Given the description of an element on the screen output the (x, y) to click on. 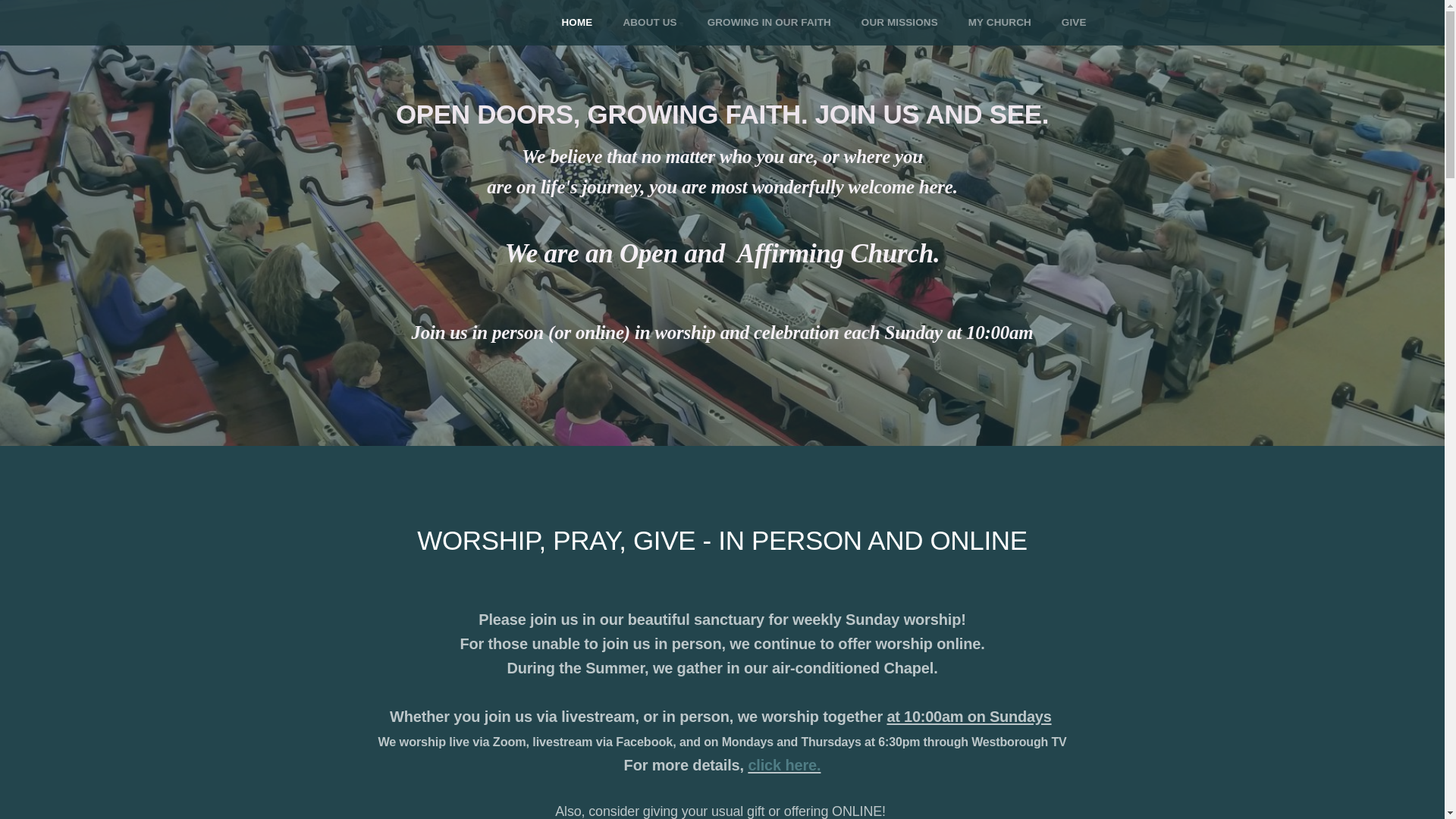
HOME (577, 22)
GROWING IN OUR FAITH (769, 22)
ABOUT US (649, 22)
